Given the description of an element on the screen output the (x, y) to click on. 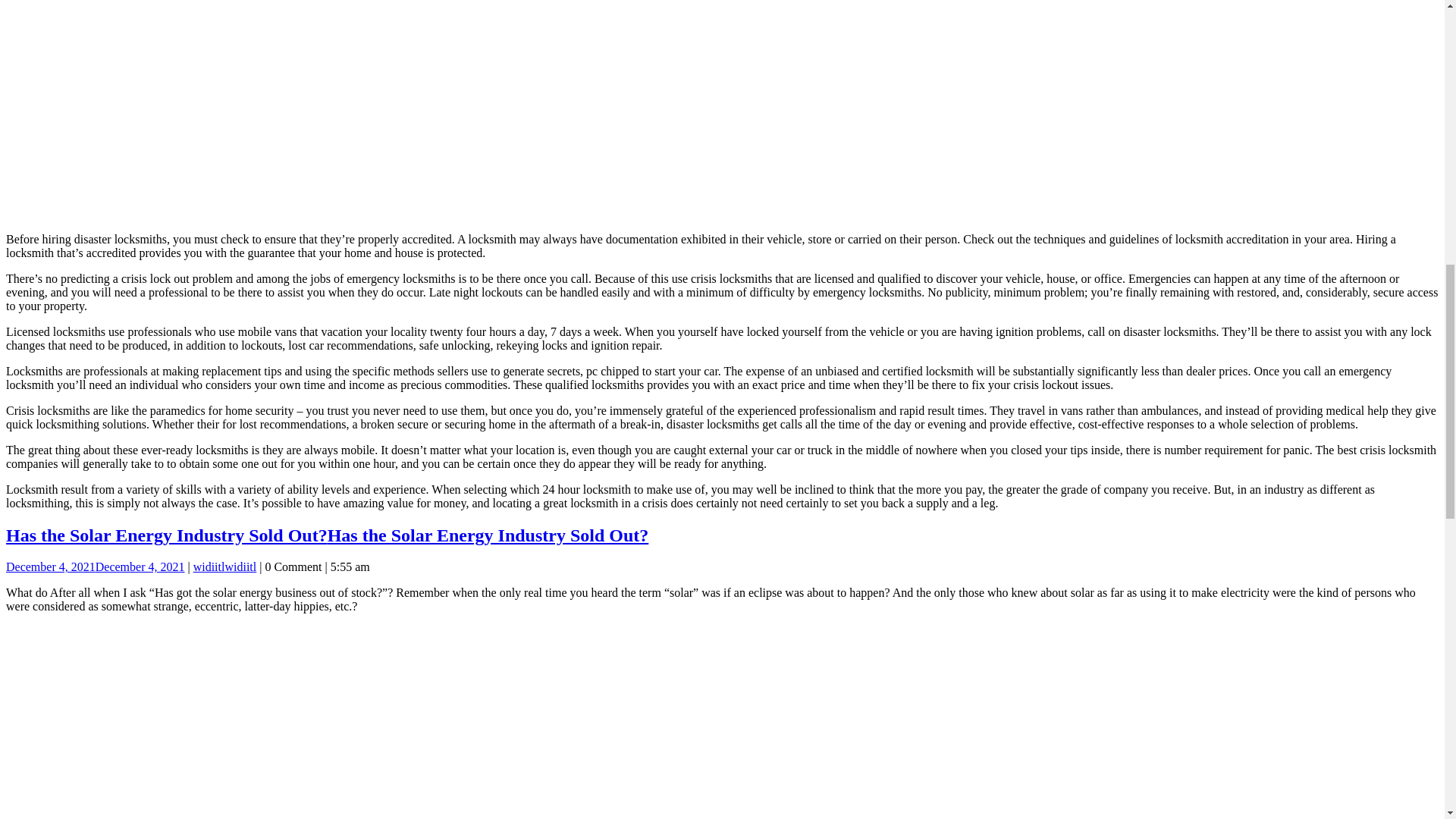
widiitlwidiitl (225, 566)
December 4, 2021December 4, 2021 (94, 566)
